Given the description of an element on the screen output the (x, y) to click on. 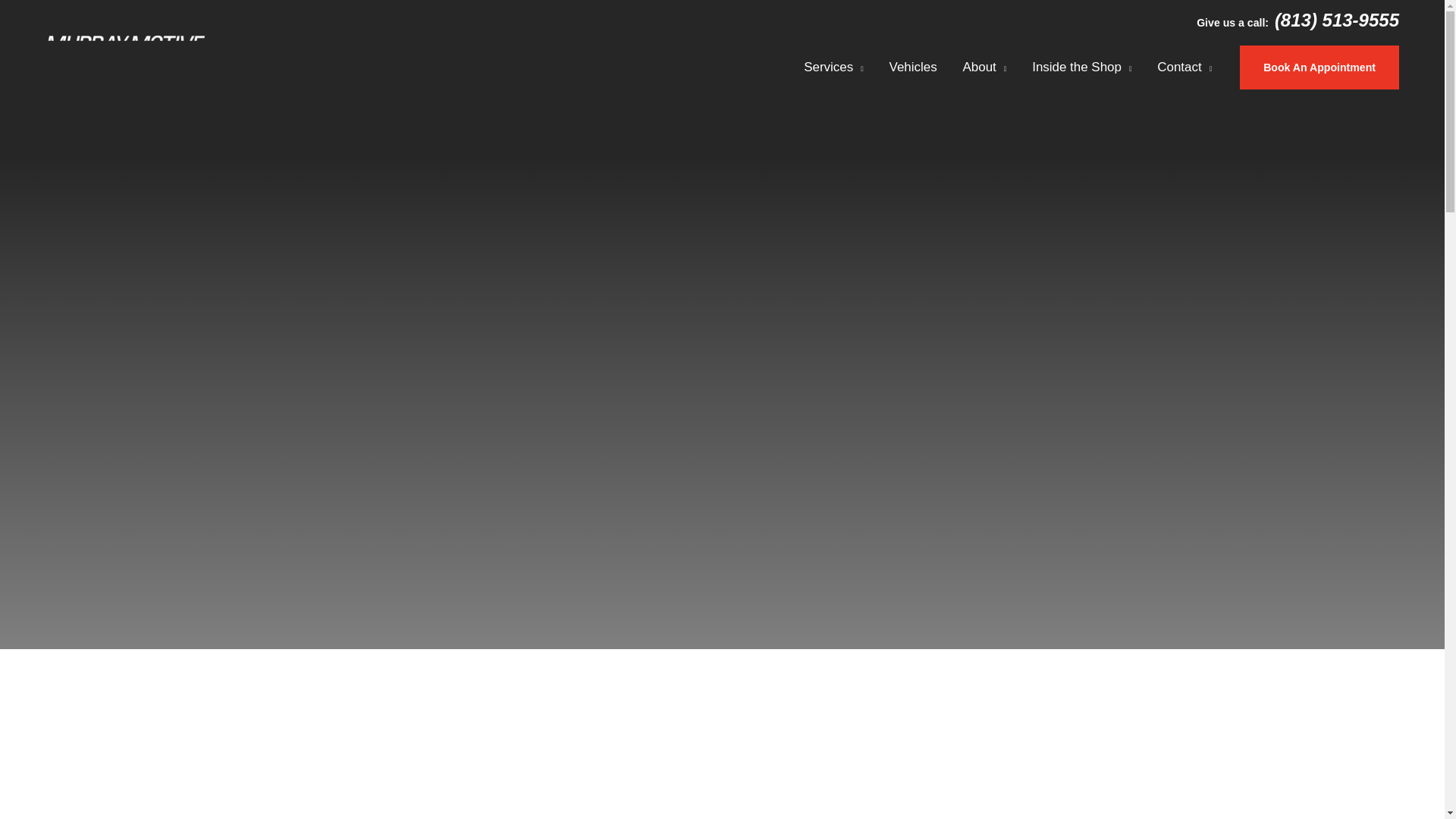
Book An Appointment (1319, 67)
Inside the Shop (1081, 67)
About (985, 67)
Vehicles (913, 67)
Contact (1184, 67)
Services (833, 67)
